Given the description of an element on the screen output the (x, y) to click on. 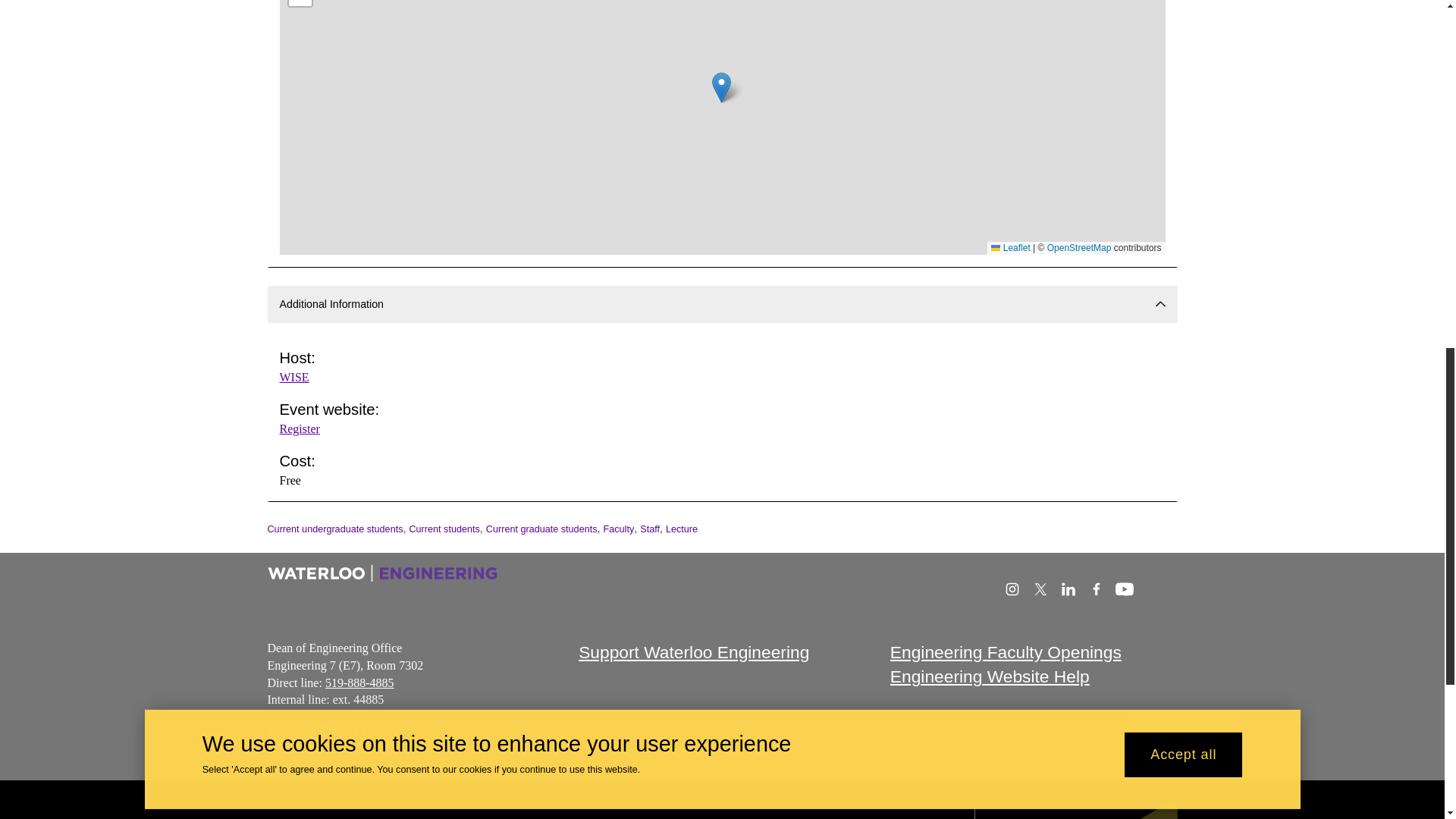
Zoom out (299, 2)
A JavaScript library for interactive maps (1010, 247)
